Given the description of an element on the screen output the (x, y) to click on. 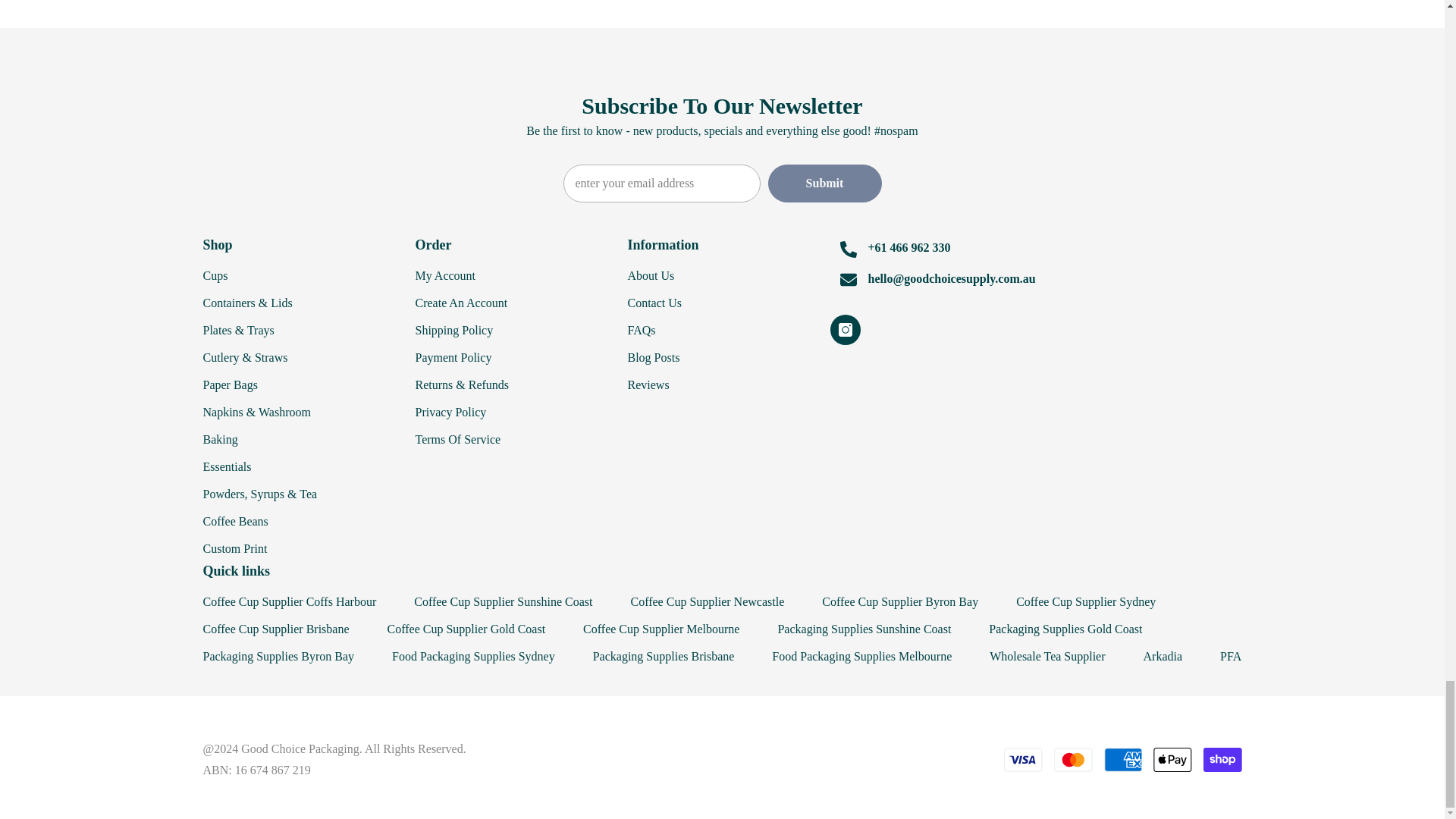
Mastercard (1073, 759)
Shop Pay (1222, 759)
Visa (1023, 759)
Apple Pay (1172, 759)
American Express (1122, 759)
